Given the description of an element on the screen output the (x, y) to click on. 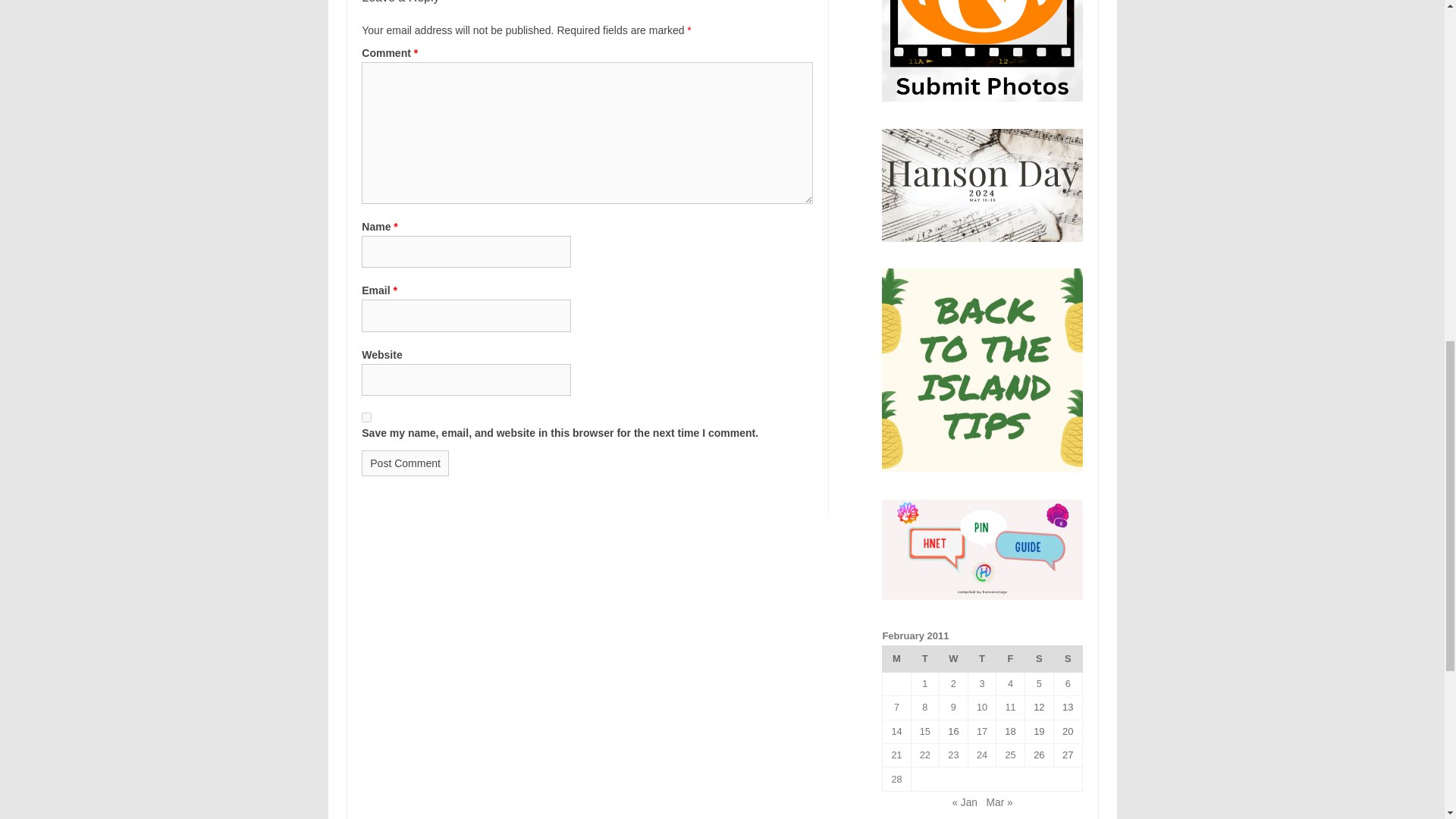
Wednesday (953, 658)
Friday (1010, 658)
Monday (896, 658)
Post Comment (404, 462)
yes (366, 417)
Sunday (1066, 658)
Saturday (1038, 658)
Tuesday (925, 658)
Thursday (981, 658)
